Given the description of an element on the screen output the (x, y) to click on. 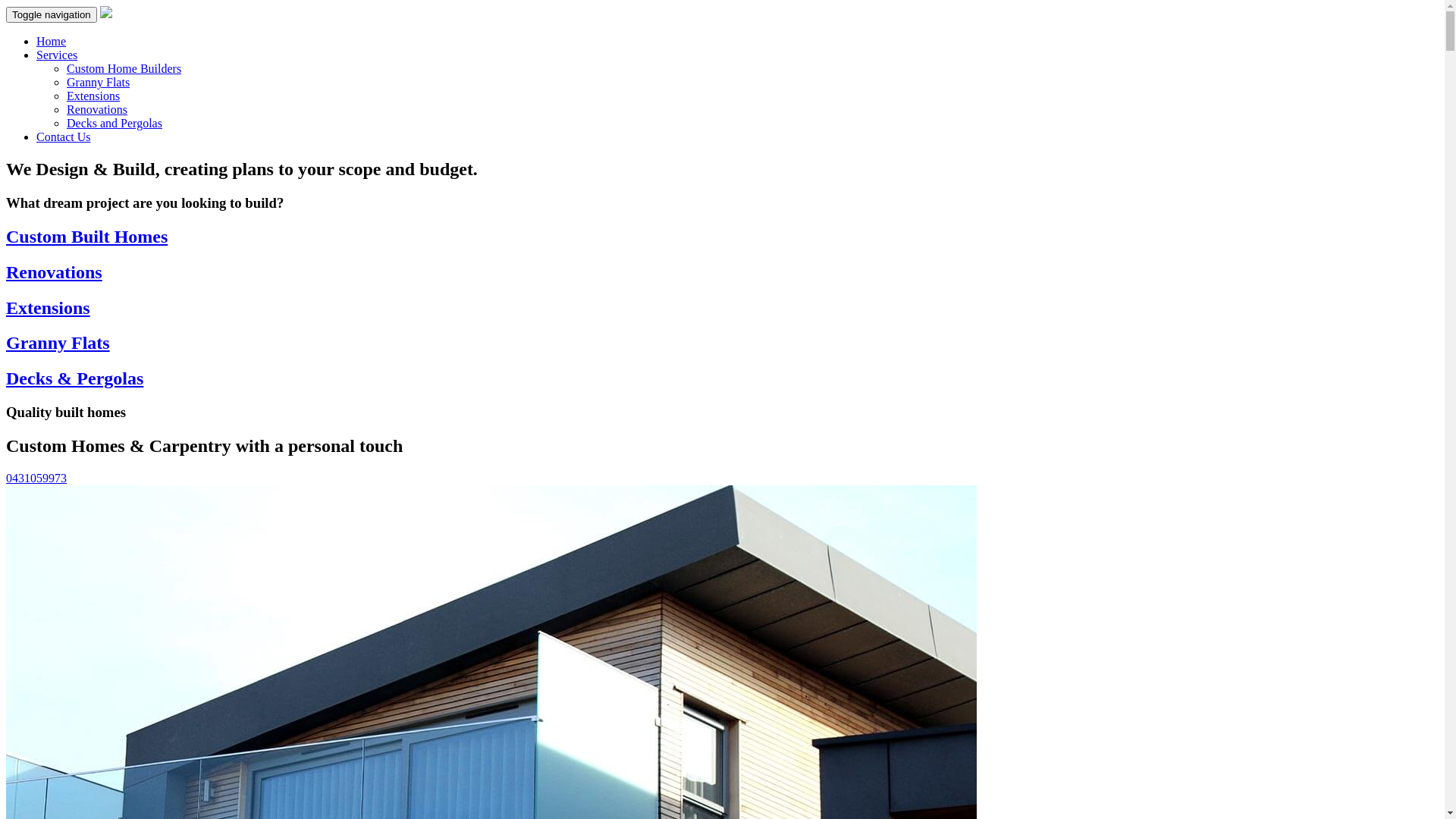
Contact Us Element type: text (63, 136)
Extensions Element type: text (92, 95)
Toggle navigation Element type: text (51, 14)
Decks and Pergolas Element type: text (114, 122)
Granny Flats Element type: text (97, 81)
Custom Home Builders Element type: text (123, 68)
Home Element type: text (50, 40)
Renovations Element type: text (96, 109)
Decks & Pergolas Element type: text (74, 378)
0431059973 Element type: text (722, 478)
Renovations Element type: text (54, 272)
Custom Built Homes Element type: text (86, 236)
Granny Flats Element type: text (57, 342)
Services Element type: text (56, 54)
Extensions Element type: text (48, 307)
